Given the description of an element on the screen output the (x, y) to click on. 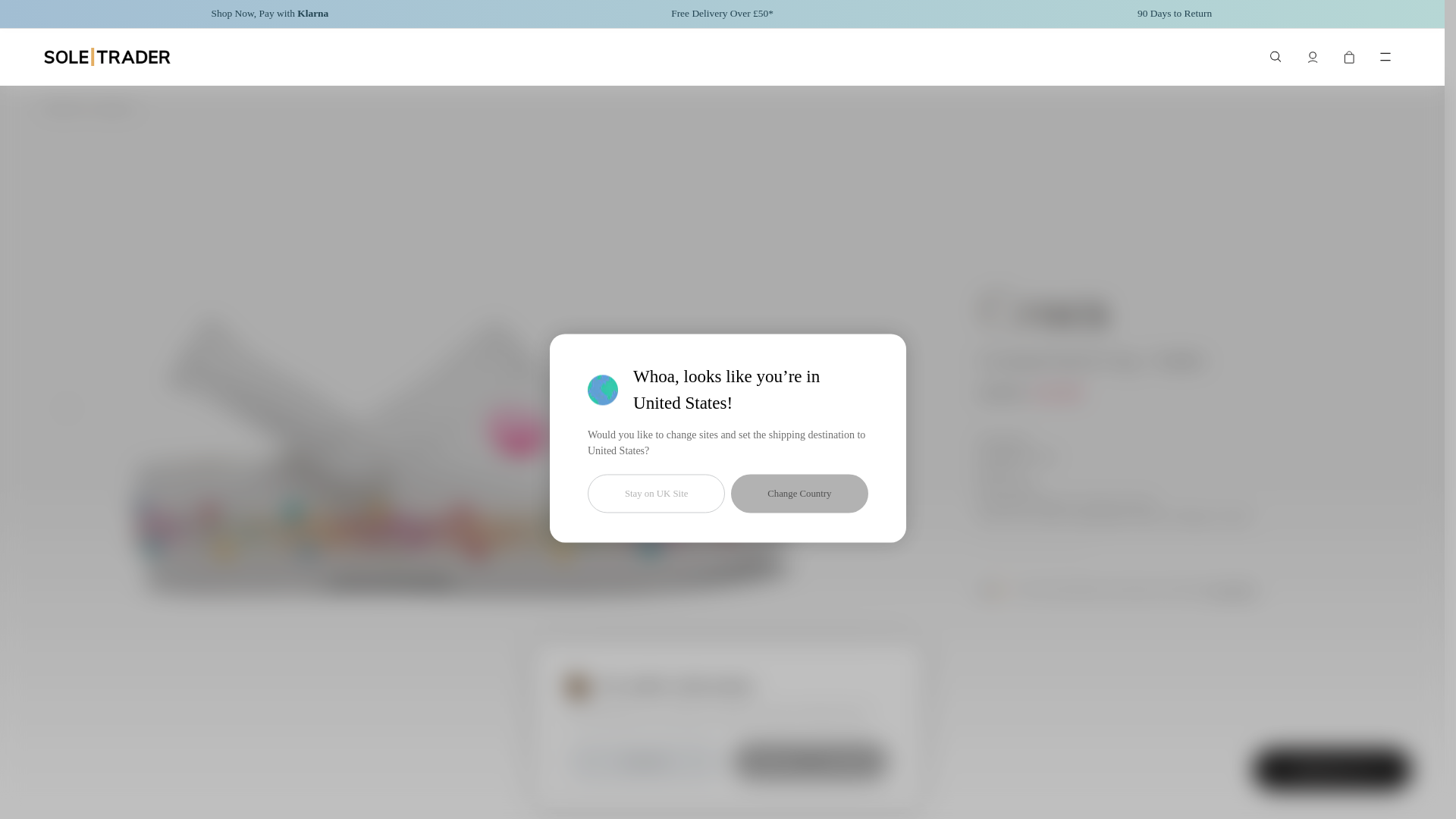
Account (1312, 56)
Select size (1332, 769)
Crocs (1041, 310)
Menu (1385, 56)
90 Days to Return (1174, 13)
Search (1275, 56)
INFANTS (63, 107)
Add to wishlist (665, 769)
Learn More (1232, 590)
SANDALS (113, 107)
Shop Now, Pay with Klarna (270, 13)
Your bag (1348, 56)
In-store pickup (789, 769)
